Given the description of an element on the screen output the (x, y) to click on. 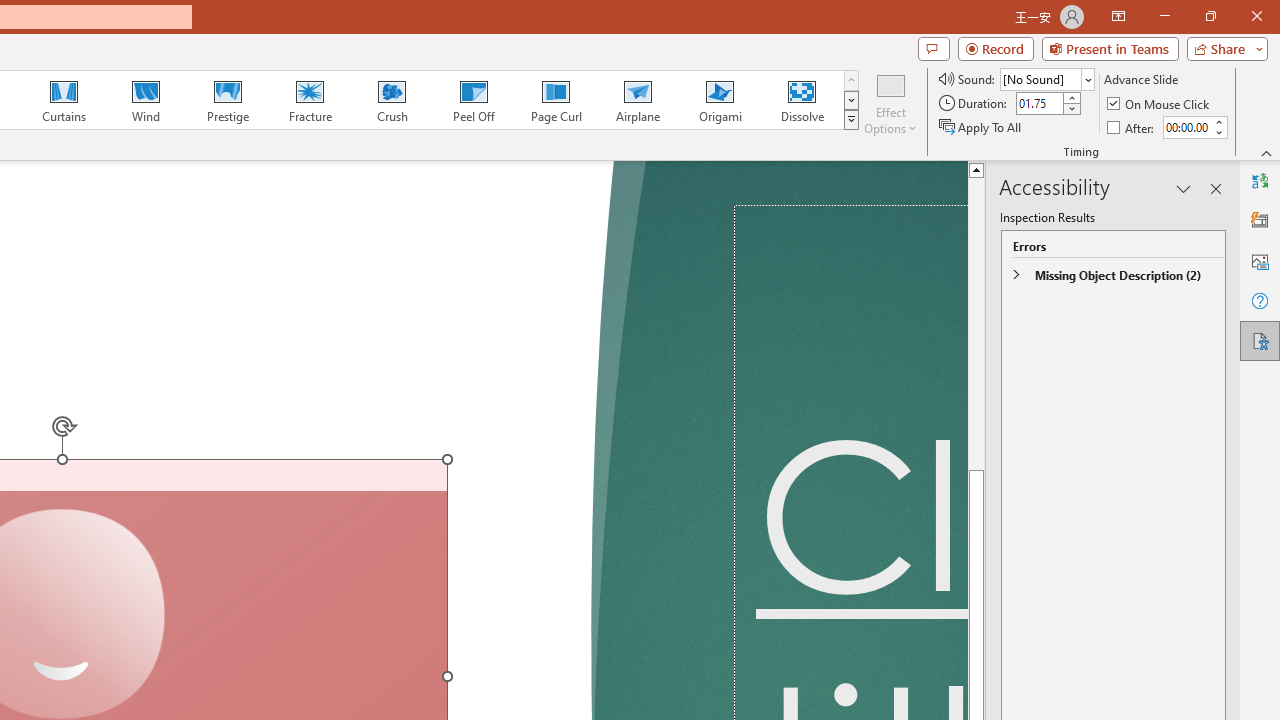
Class: NetUIImage (851, 119)
Airplane (637, 100)
Translator (1260, 180)
Alt Text (1260, 260)
Record (995, 48)
Fracture (309, 100)
Curtains (63, 100)
Dissolve (802, 100)
Restore Down (1210, 16)
Origami (719, 100)
Minimize (1164, 16)
Share (1223, 48)
